Given the description of an element on the screen output the (x, y) to click on. 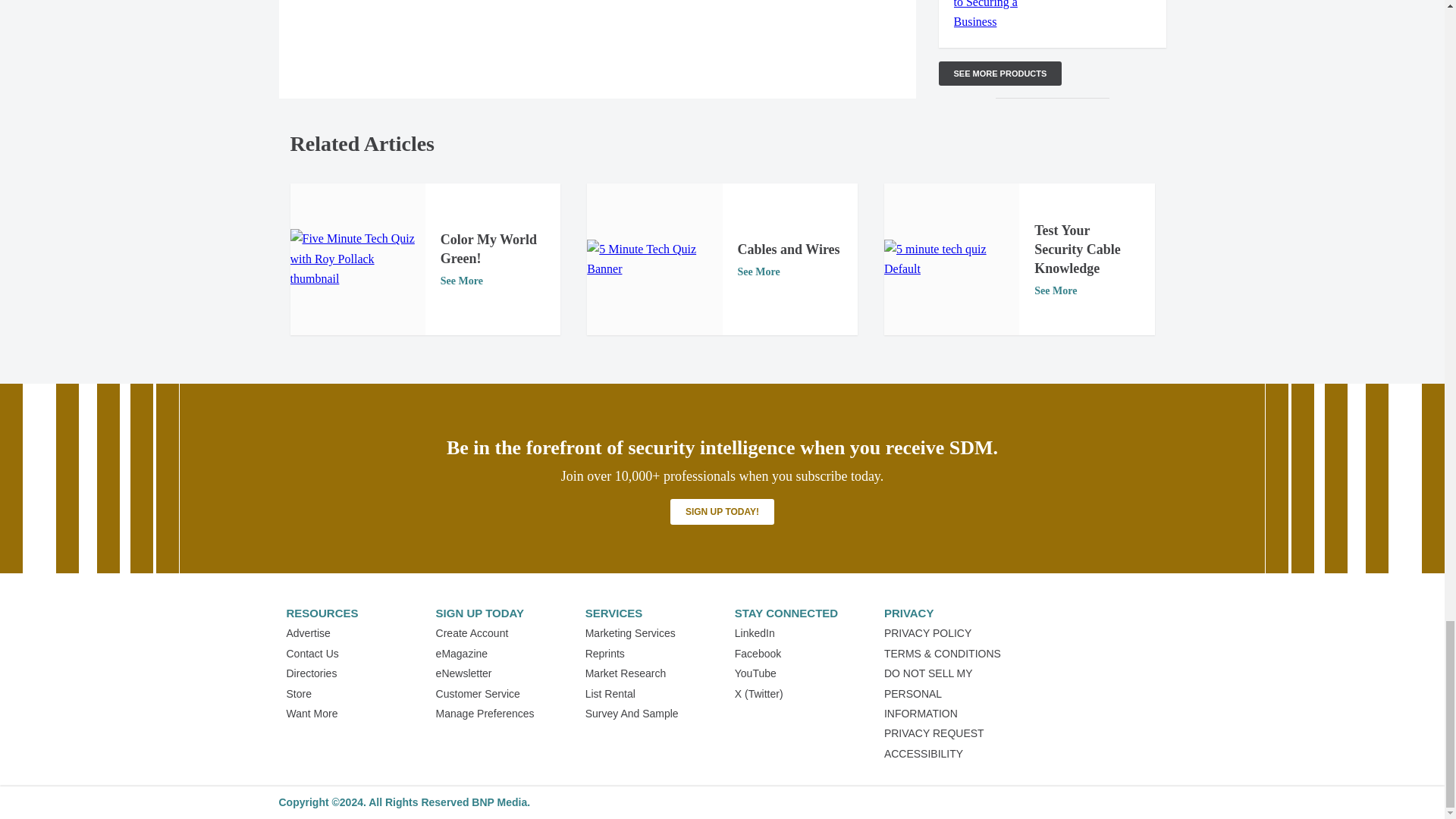
Five Minute Tech Quiz with Roy Pollack thumbnail (357, 259)
5 minute tech quiz Default (951, 259)
5 Minute Tech Quiz Banner (654, 259)
